Given the description of an element on the screen output the (x, y) to click on. 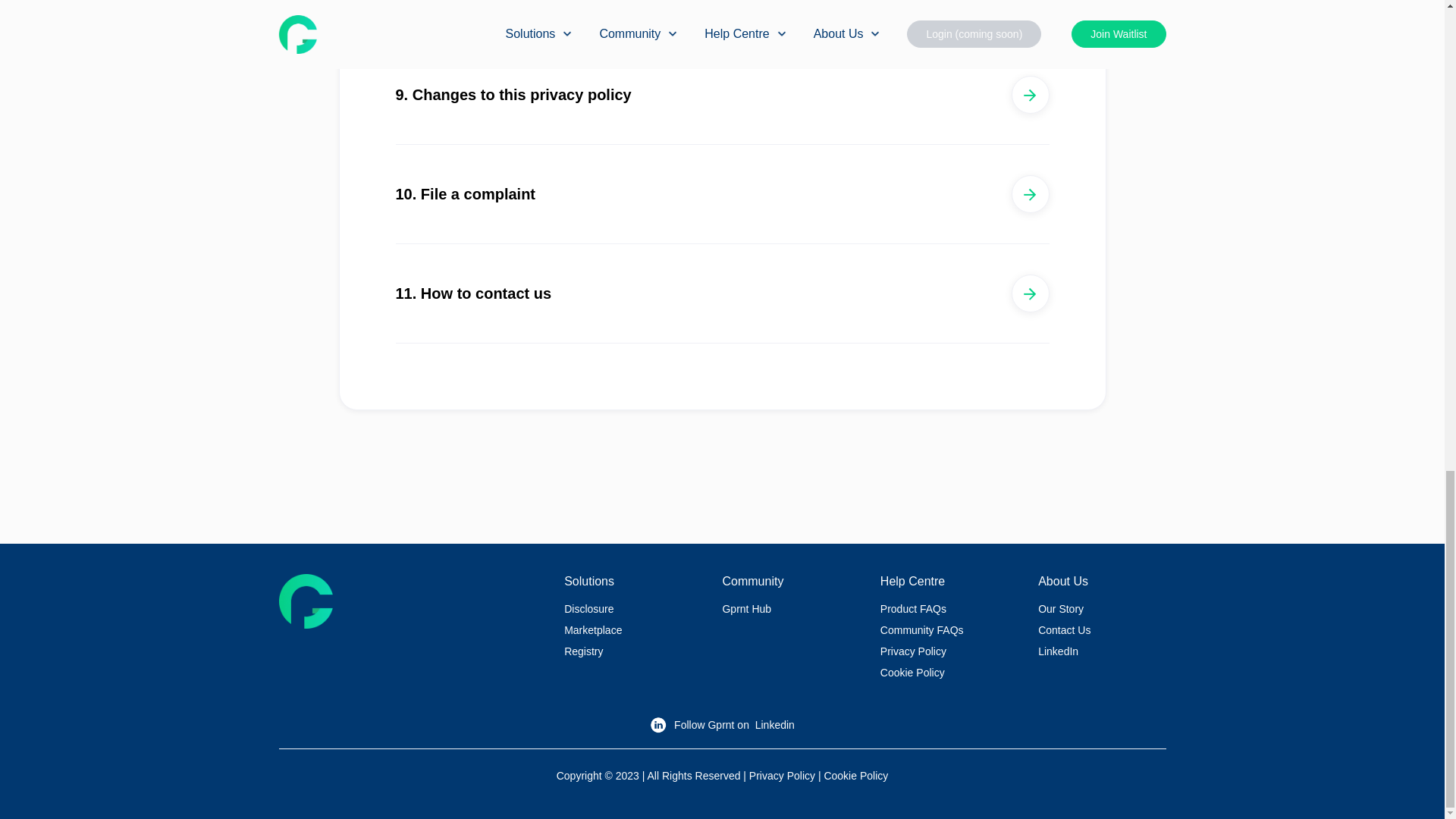
Contact Us (1064, 630)
Privacy Policy (913, 651)
Linkedin (774, 725)
Gprnt Hub (746, 608)
Product FAQs (913, 608)
Our Story (1060, 608)
Cookie Policy (912, 672)
Registry (583, 651)
Community FAQs (921, 630)
Marketplace (592, 630)
